Given the description of an element on the screen output the (x, y) to click on. 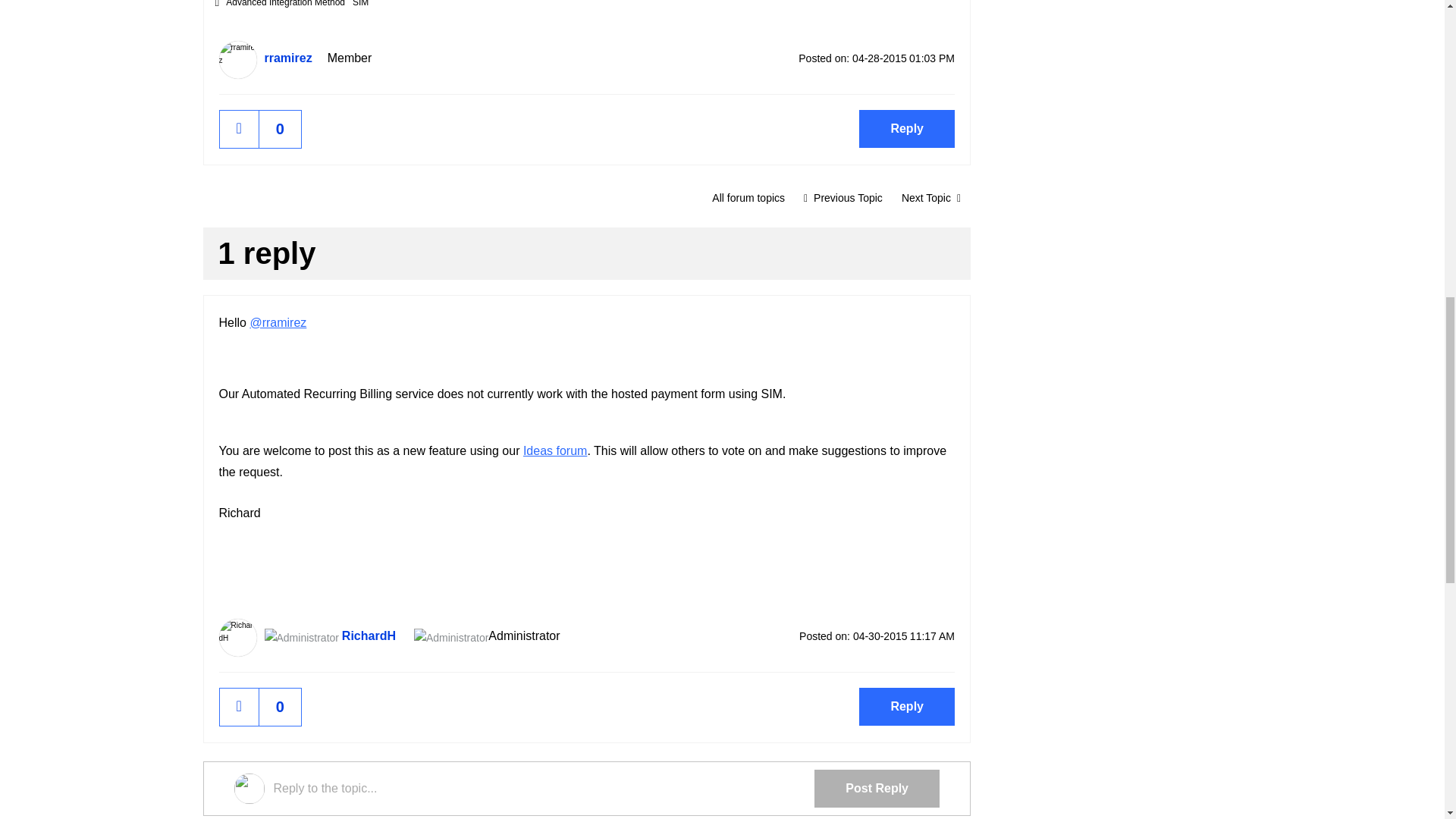
Integration and Testing (747, 197)
Advanced Integration Method (285, 3)
The total number of kudos this post has received. (280, 128)
Click here to give kudos to this post. (239, 129)
rramirez (237, 59)
RichardH (237, 637)
Customer details n transaction details api (842, 197)
Questions about DPM relay page code (931, 197)
